Given the description of an element on the screen output the (x, y) to click on. 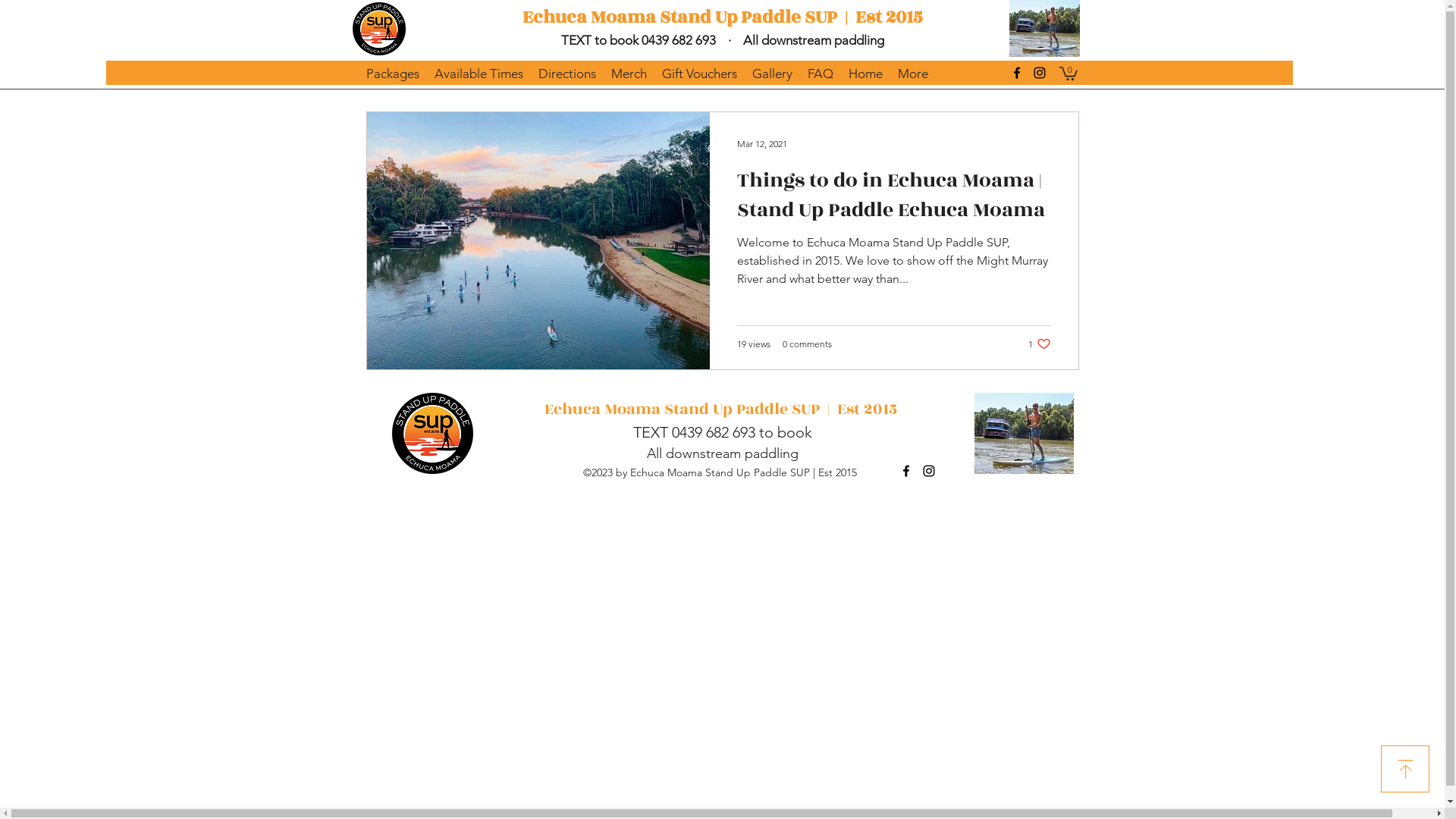
Merch Element type: text (628, 73)
Packages Element type: text (391, 73)
Available Times Element type: text (478, 73)
Home Element type: text (864, 73)
Est 2015 Element type: text (888, 17)
1 like. Post not marked as liked
1 Element type: text (1039, 343)
Est 2015 Element type: text (867, 408)
  |   Element type: text (846, 17)
Directions Element type: text (566, 73)
Gallery Element type: text (772, 73)
FAQ Element type: text (819, 73)
Gift Vouchers Element type: text (698, 73)
Stand Up Paddle SUP  |   Element type: text (750, 408)
0 Element type: text (1067, 72)
Things to do in Echuca Moama | Stand Up Paddle Echuca Moama Element type: text (894, 199)
Echuca Moama  Element type: text (604, 408)
0 comments Element type: text (806, 343)
Echuca Moama Stand Up Paddle SUP Element type: text (678, 17)
